Given the description of an element on the screen output the (x, y) to click on. 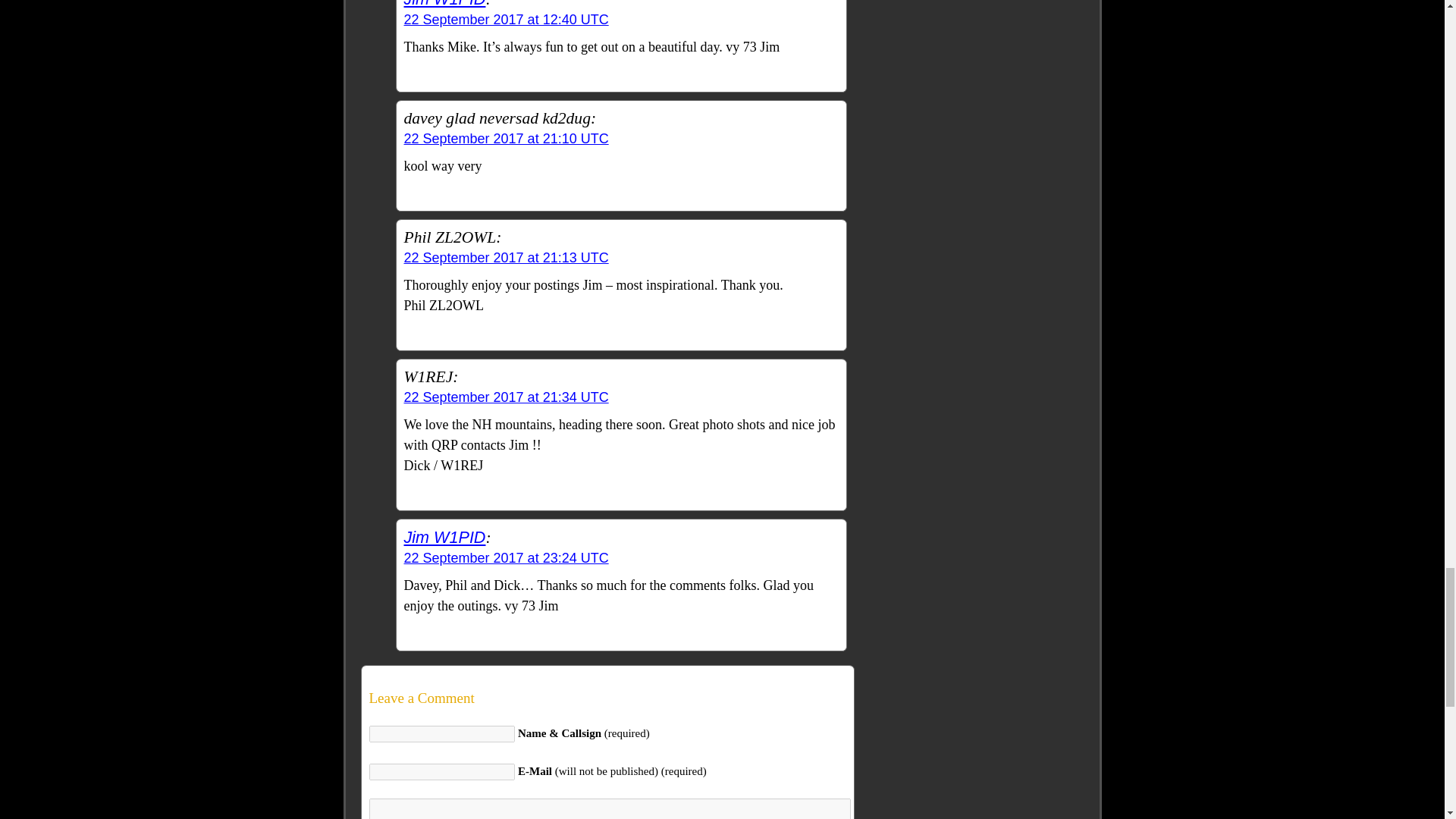
Jim W1PID (443, 537)
Leave a Comment (606, 697)
22 September 2017 at 21:10 UTC (505, 138)
22 September 2017 at 23:24 UTC (505, 557)
22 September 2017 at 21:13 UTC (505, 257)
22 September 2017 at 12:40 UTC (505, 19)
22 September 2017 at 21:34 UTC (505, 396)
Jim W1PID (443, 4)
